Given the description of an element on the screen output the (x, y) to click on. 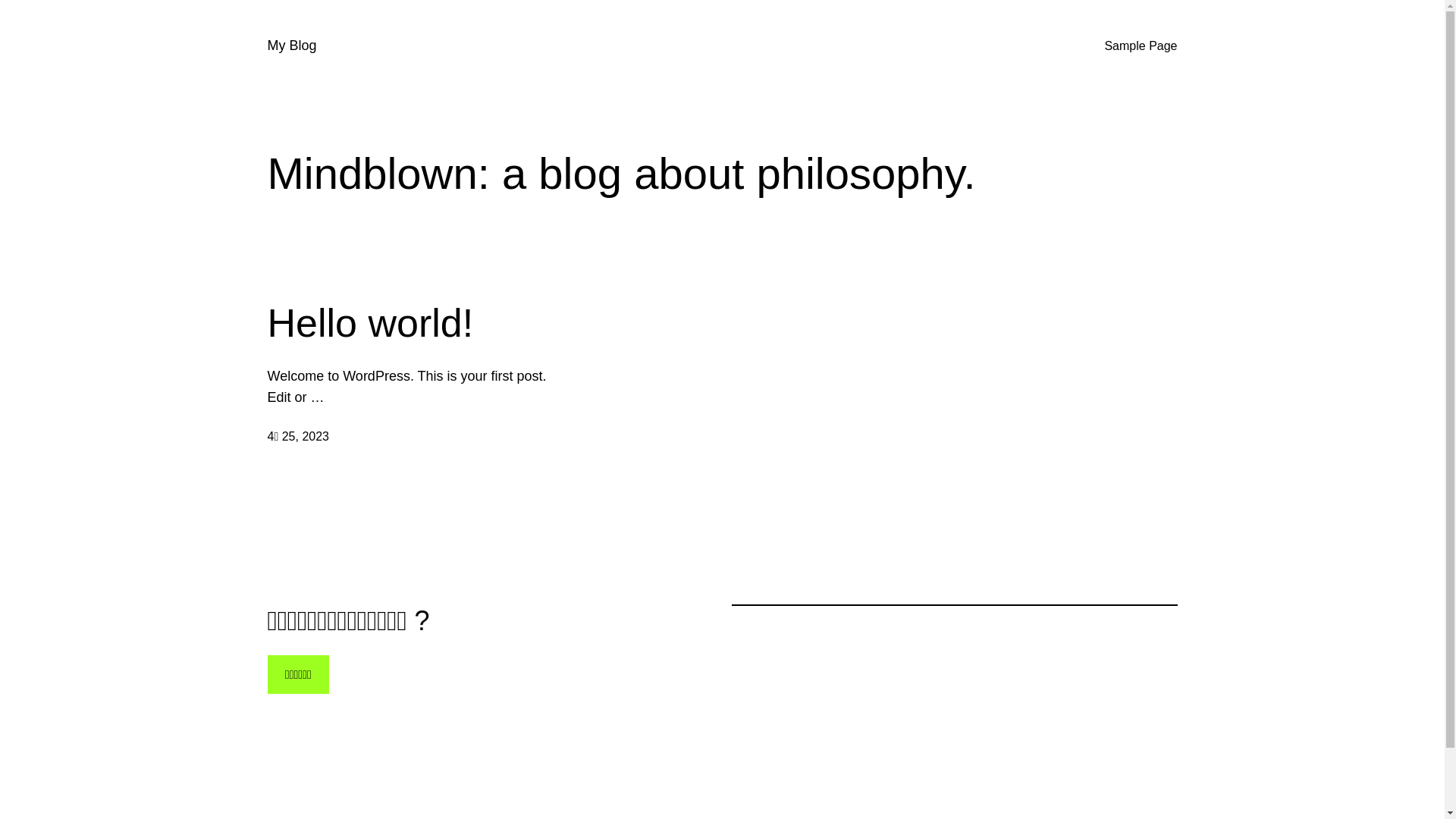
Sample Page Element type: text (1140, 46)
Hello world! Element type: text (369, 322)
My Blog Element type: text (291, 45)
